Given the description of an element on the screen output the (x, y) to click on. 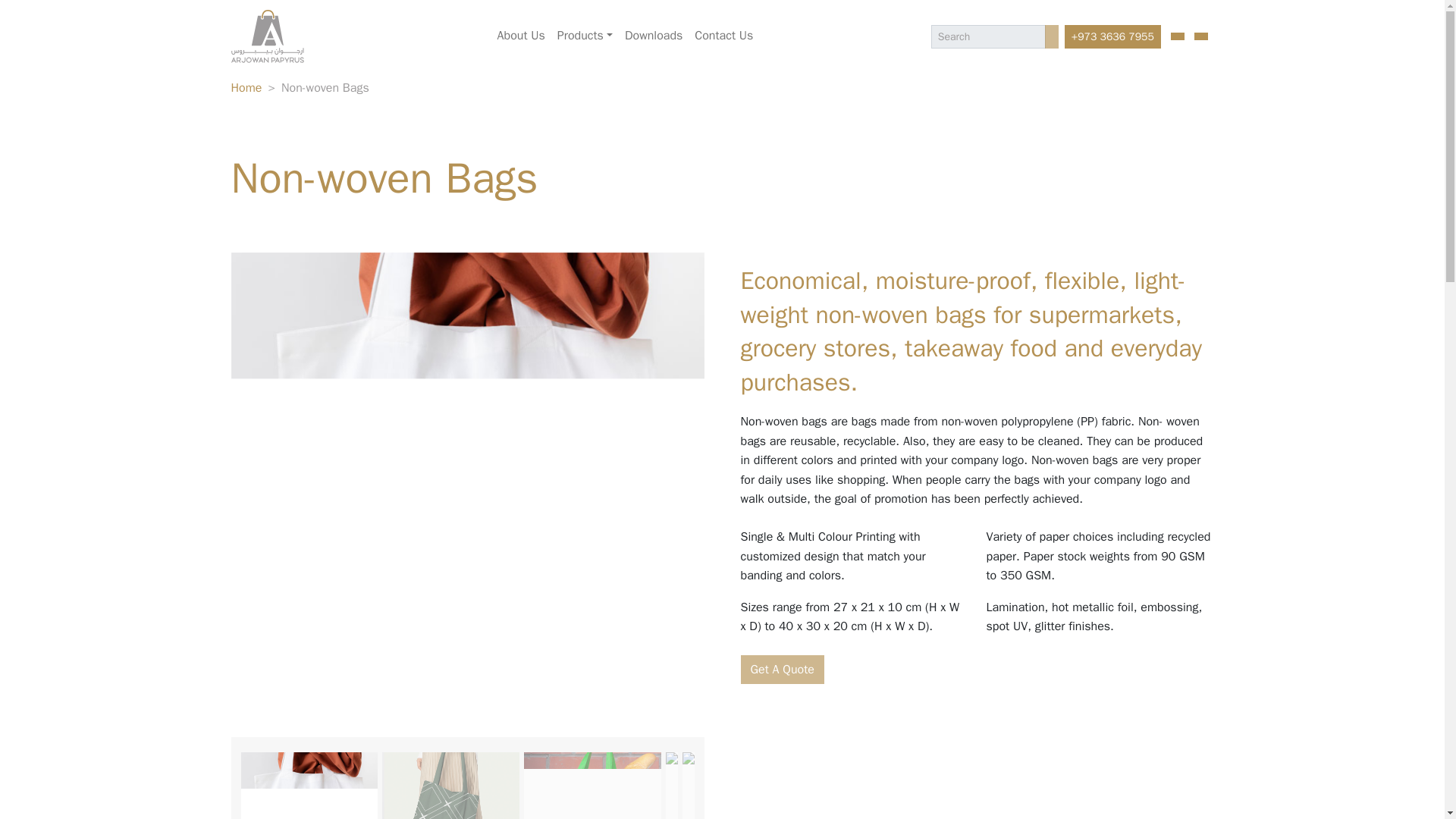
Products (584, 36)
Next (687, 495)
Get A Quote (781, 669)
About Us (521, 36)
Downloads (653, 36)
Contact Us (723, 36)
Home (246, 87)
Previous (245, 495)
